Given the description of an element on the screen output the (x, y) to click on. 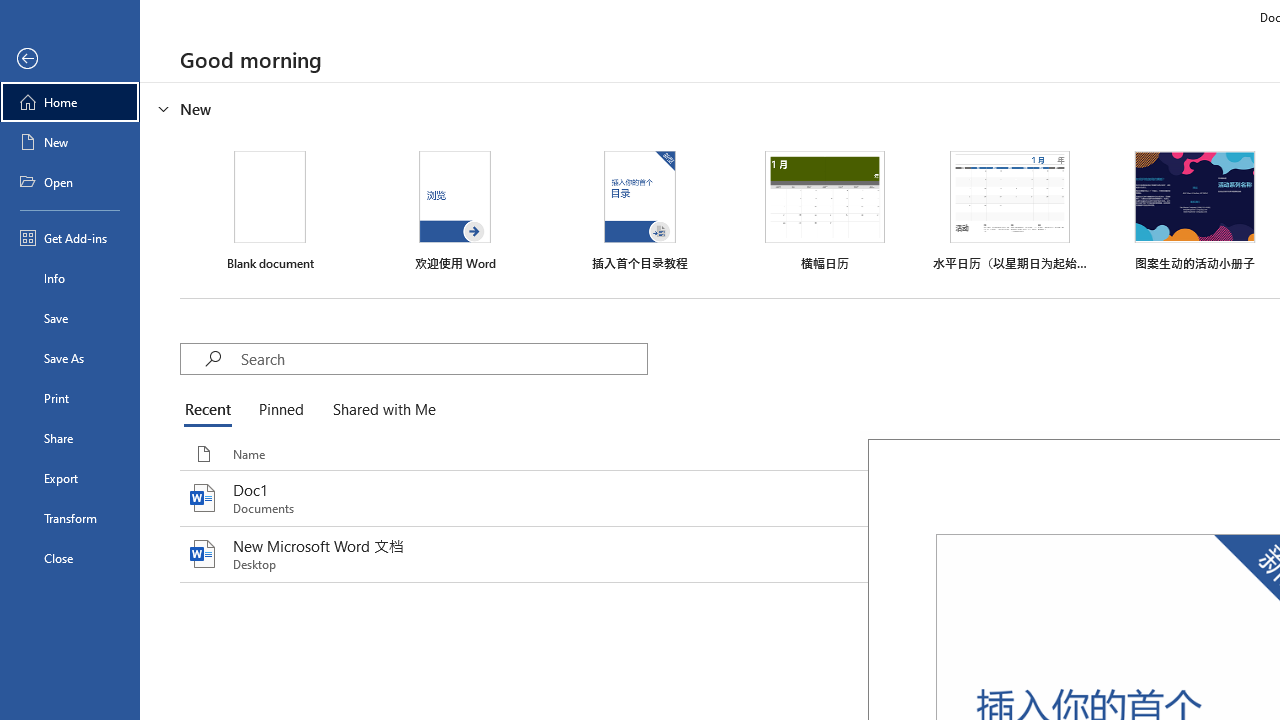
Export (69, 477)
Recent (212, 410)
Blank document (269, 211)
Hide or show region (164, 108)
Transform (69, 517)
Pinned (280, 410)
Shared with Me (379, 410)
New (69, 141)
Info (69, 277)
Get Add-ins (69, 237)
